Given the description of an element on the screen output the (x, y) to click on. 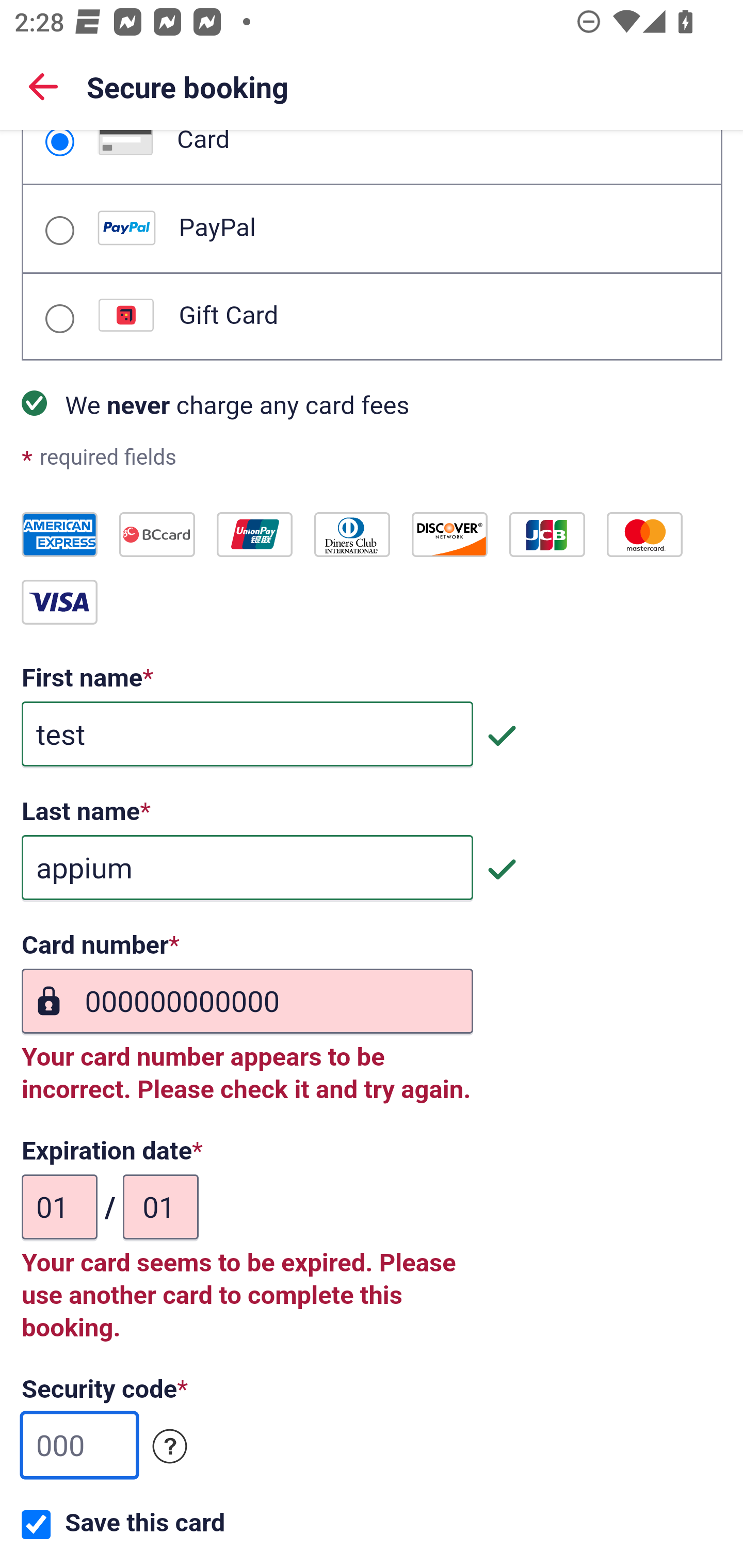
Back (43, 86)
Card (59, 143)
PayPal (59, 230)
Gift Card (59, 318)
test (247, 734)
appium (247, 868)
000000000000 (247, 1001)
01 (59, 1206)
01 (159, 1206)
Security code (170, 1447)
Save this card (36, 1524)
